Given the description of an element on the screen output the (x, y) to click on. 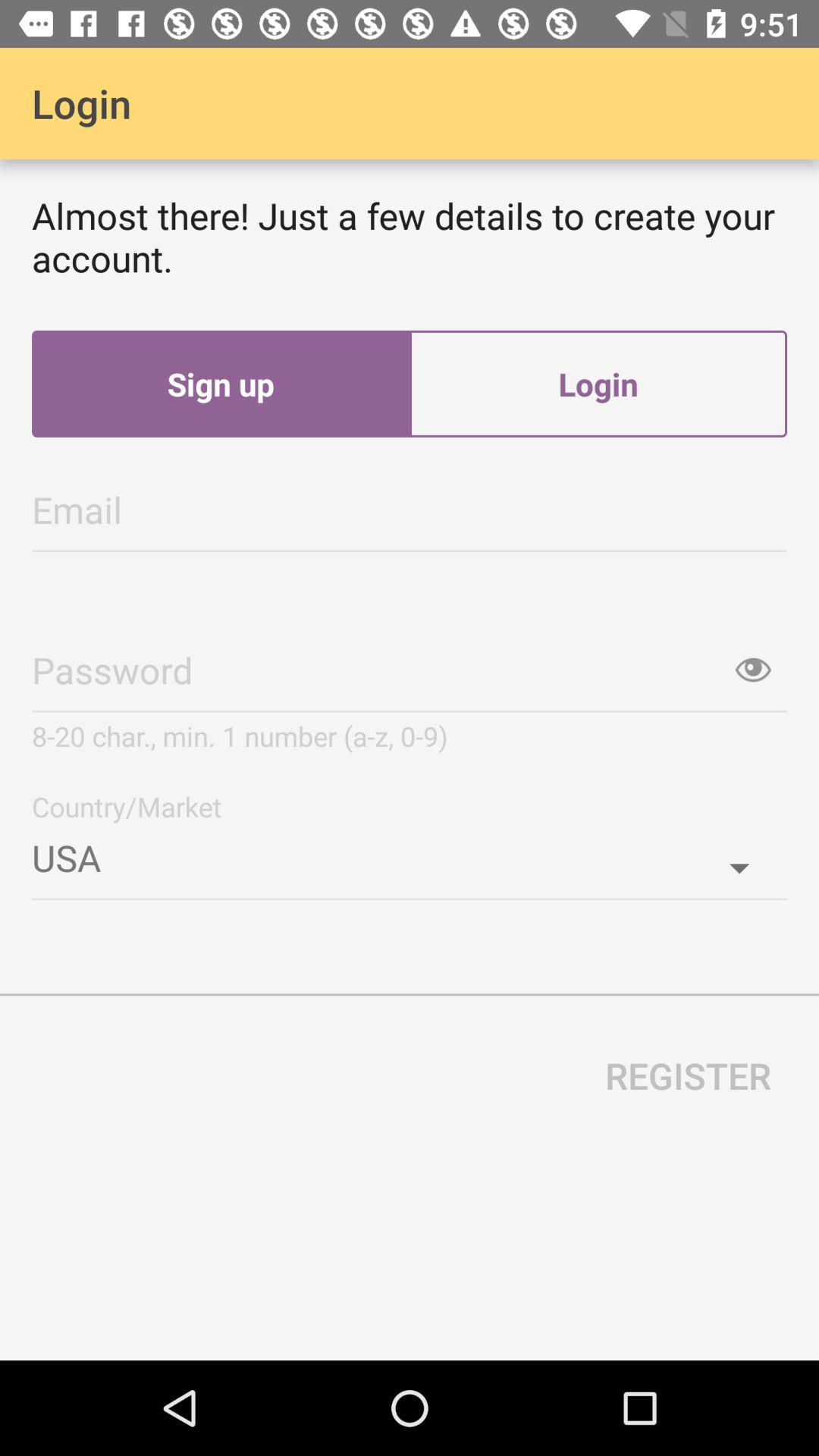
turn off the register icon (688, 1075)
